Given the description of an element on the screen output the (x, y) to click on. 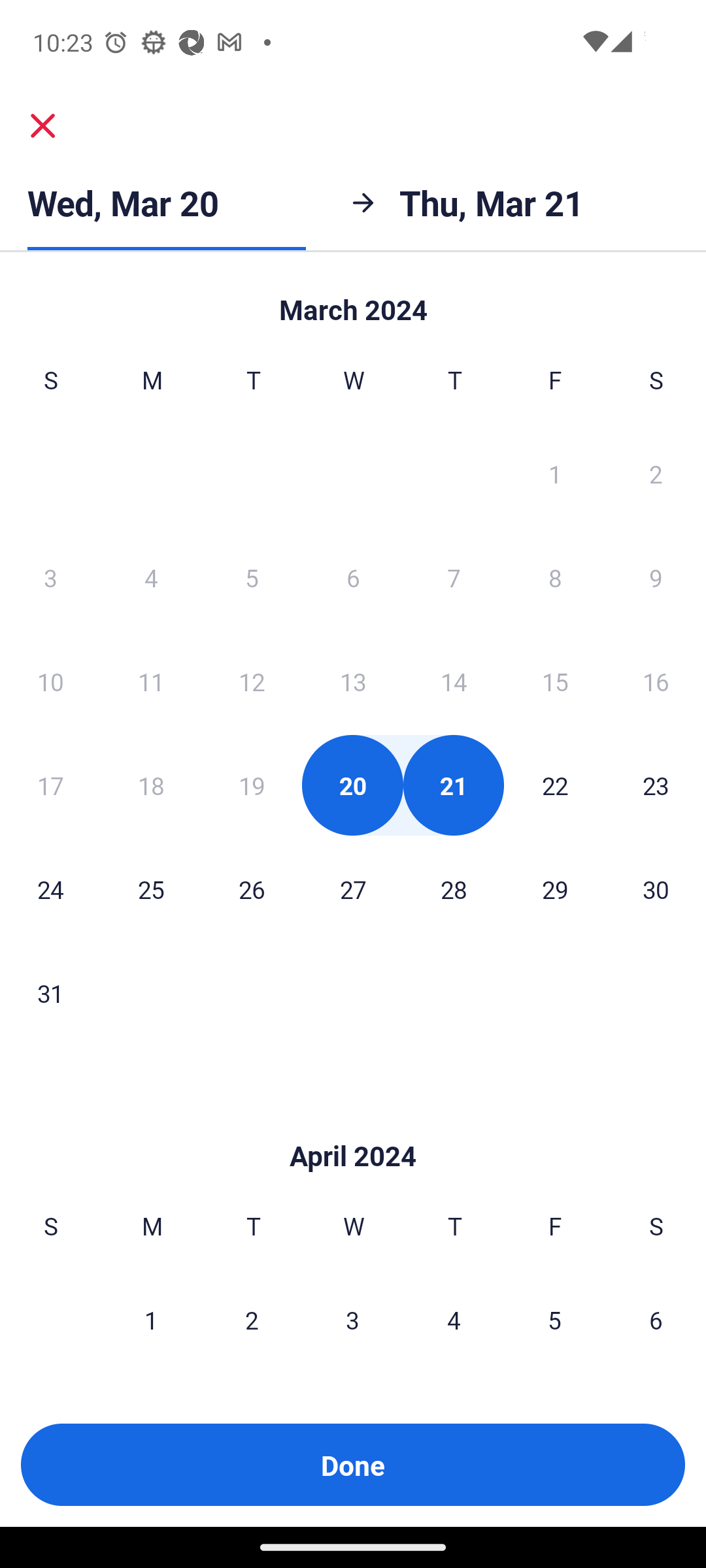
close. (43, 125)
Skip to Done (353, 300)
1 Friday, March 1, 2024 (554, 473)
2 Saturday, March 2, 2024 (655, 473)
3 Sunday, March 3, 2024 (50, 576)
4 Monday, March 4, 2024 (150, 576)
5 Tuesday, March 5, 2024 (251, 576)
6 Wednesday, March 6, 2024 (352, 576)
7 Thursday, March 7, 2024 (453, 576)
8 Friday, March 8, 2024 (554, 576)
9 Saturday, March 9, 2024 (655, 576)
10 Sunday, March 10, 2024 (50, 681)
11 Monday, March 11, 2024 (150, 681)
12 Tuesday, March 12, 2024 (251, 681)
13 Wednesday, March 13, 2024 (352, 681)
14 Thursday, March 14, 2024 (453, 681)
15 Friday, March 15, 2024 (554, 681)
16 Saturday, March 16, 2024 (655, 681)
17 Sunday, March 17, 2024 (50, 785)
18 Monday, March 18, 2024 (150, 785)
19 Tuesday, March 19, 2024 (251, 785)
22 Friday, March 22, 2024 (554, 785)
23 Saturday, March 23, 2024 (655, 785)
24 Sunday, March 24, 2024 (50, 888)
25 Monday, March 25, 2024 (150, 888)
26 Tuesday, March 26, 2024 (251, 888)
27 Wednesday, March 27, 2024 (352, 888)
28 Thursday, March 28, 2024 (453, 888)
29 Friday, March 29, 2024 (554, 888)
30 Saturday, March 30, 2024 (655, 888)
31 Sunday, March 31, 2024 (50, 992)
Skip to Done (353, 1126)
1 Monday, April 1, 2024 (150, 1320)
2 Tuesday, April 2, 2024 (251, 1320)
3 Wednesday, April 3, 2024 (352, 1320)
4 Thursday, April 4, 2024 (453, 1320)
5 Friday, April 5, 2024 (554, 1320)
6 Saturday, April 6, 2024 (655, 1320)
Done (352, 1464)
